Given the description of an element on the screen output the (x, y) to click on. 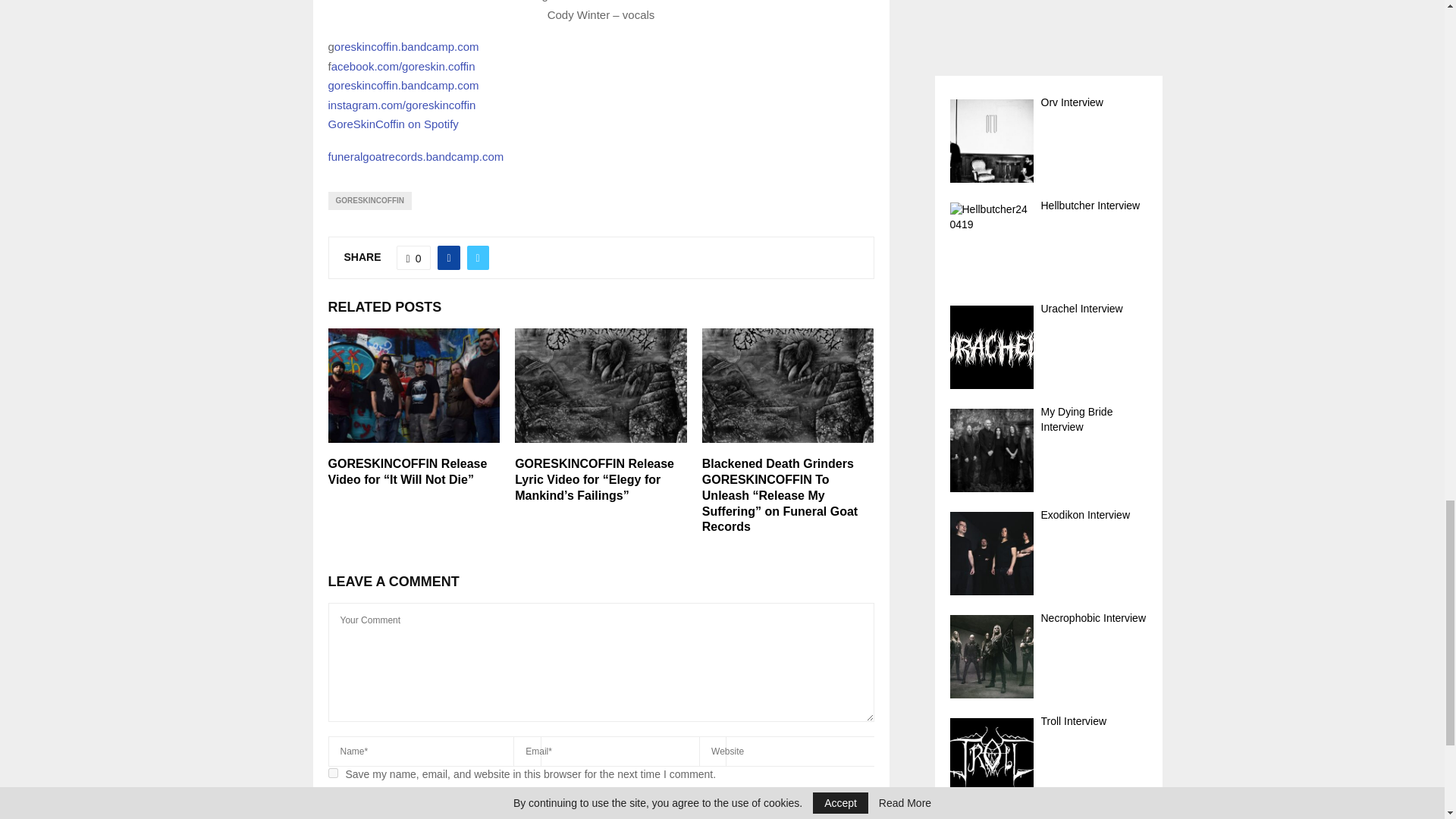
yes (332, 773)
oreskincoffin.bandcamp.com (406, 46)
goreskincoffin.bandcamp.com (403, 84)
Submit (362, 808)
Like (413, 257)
0 (413, 257)
GORESKINCOFFIN (369, 200)
GoreSkinCoffin on Spotify (392, 123)
funeralgoatrecords.bandcamp.com (415, 155)
